Given the description of an element on the screen output the (x, y) to click on. 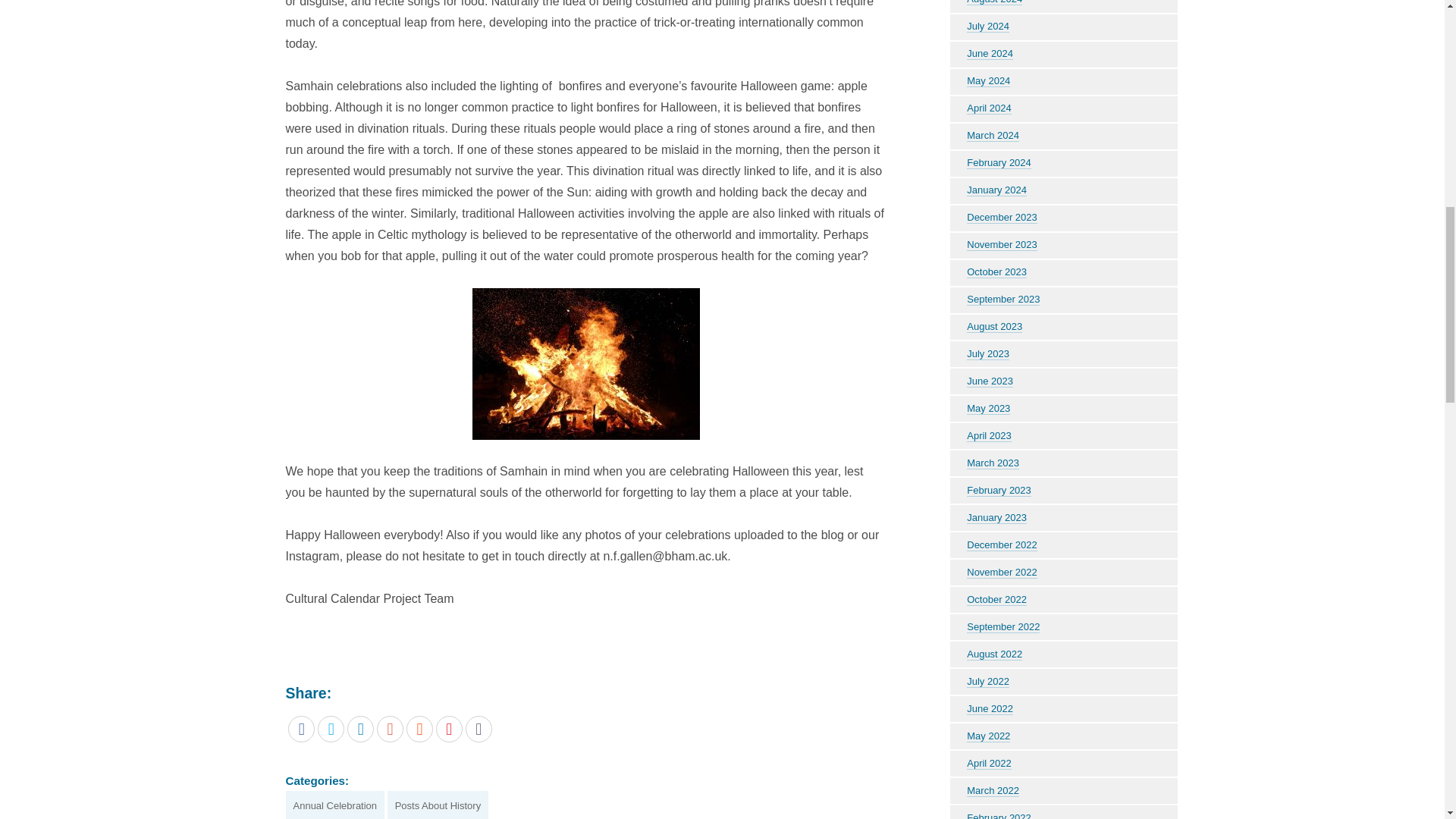
Share on Twitter (330, 728)
Share on Facebook (301, 728)
Share by email (478, 728)
Share on Weibo (449, 728)
Posts About History (437, 805)
Share on Reddit (419, 728)
Share on LinkedIn (360, 728)
Annual Celebration (334, 805)
